Given the description of an element on the screen output the (x, y) to click on. 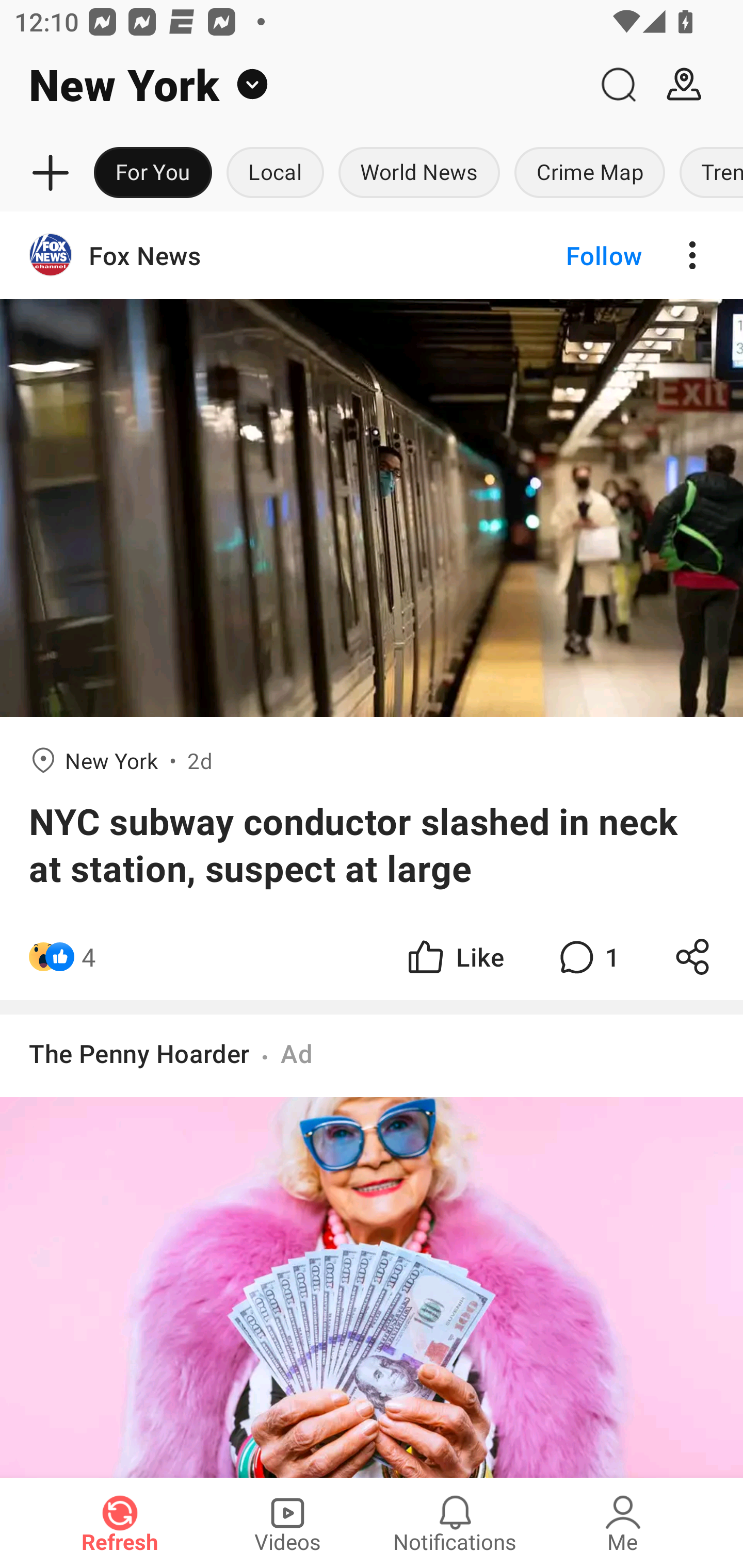
New York (292, 84)
For You (152, 172)
Local (275, 172)
World News (419, 172)
Crime Map (589, 172)
Fox News Follow (371, 255)
Follow (569, 255)
4 (88, 957)
Like (454, 957)
1 (587, 957)
The Penny Hoarder (138, 1053)
Videos (287, 1522)
Notifications (455, 1522)
Me (622, 1522)
